Given the description of an element on the screen output the (x, y) to click on. 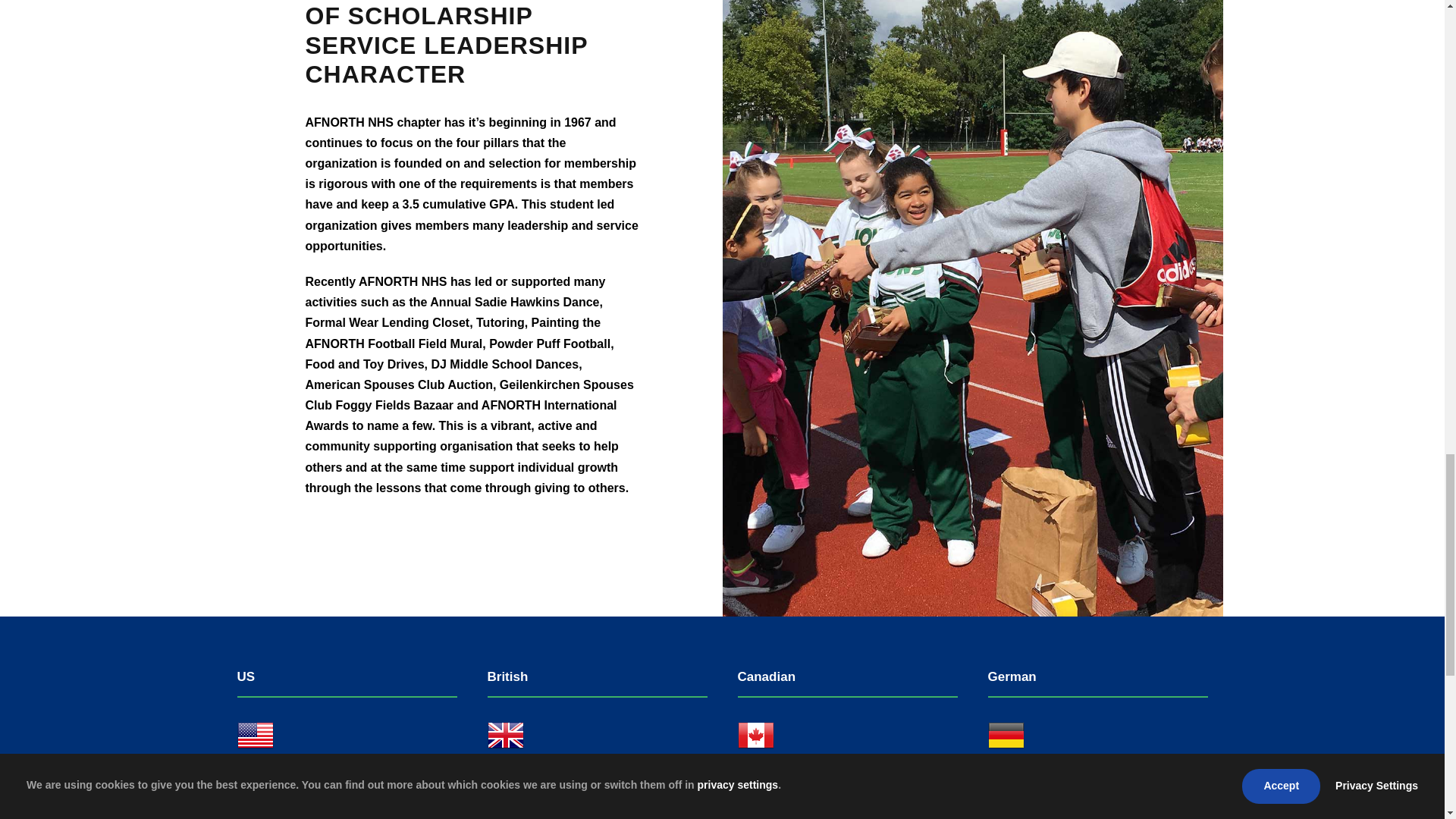
British (504, 735)
